Given the description of an element on the screen output the (x, y) to click on. 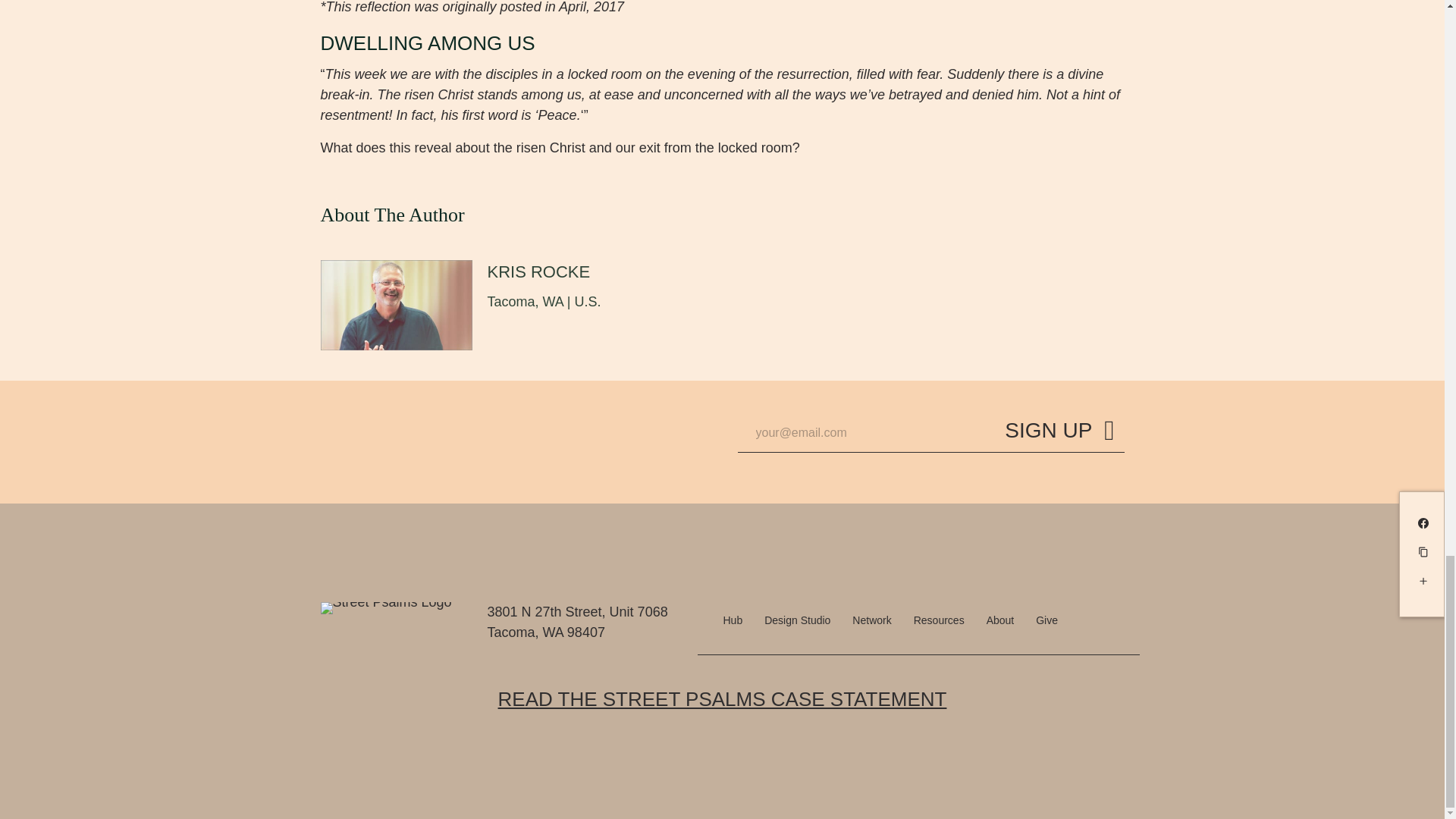
SIGN UP (1059, 434)
Hub (733, 620)
Network (871, 620)
Resources (938, 620)
Design Studio (797, 620)
